Given the description of an element on the screen output the (x, y) to click on. 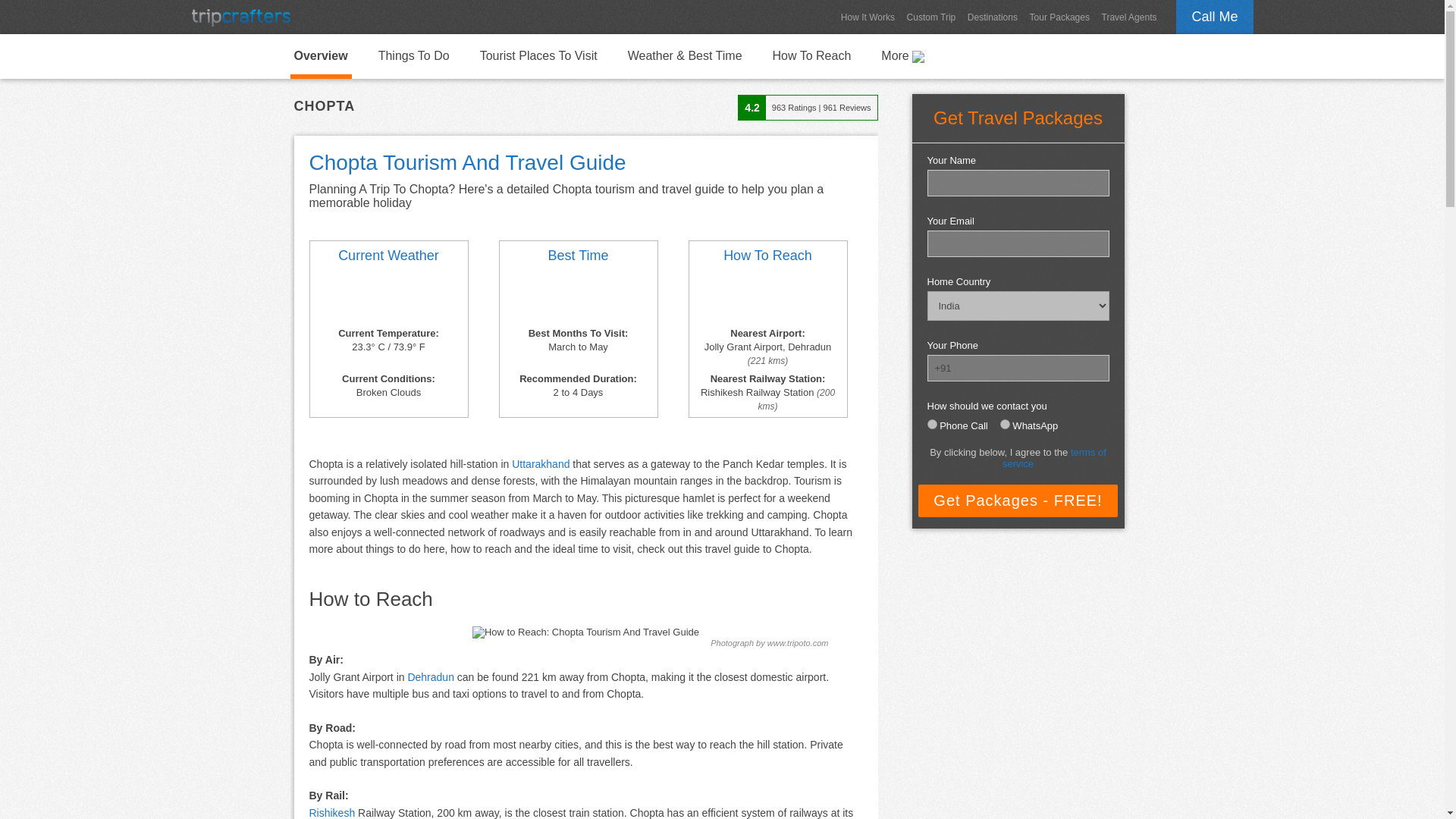
How to Reach:  Chopta Tourism And Travel Guide (584, 632)
Phone (931, 424)
How To Reach (812, 54)
Travel Destinations (992, 17)
How It Works (867, 17)
How To Reach Chopta (767, 297)
Chopta Weather And Best Time To Visit Chopta (577, 297)
Chopta Tourism And Travel Guide (319, 56)
Destinations (992, 17)
Chopta Weather And Best Time To Visit Chopta (578, 255)
Travel Agents (1129, 17)
Tour Packages (1059, 17)
How To Reach (767, 255)
How To Reach Chopta (812, 54)
Chopta Weather And Best Time To Visit Chopta (387, 297)
